Given the description of an element on the screen output the (x, y) to click on. 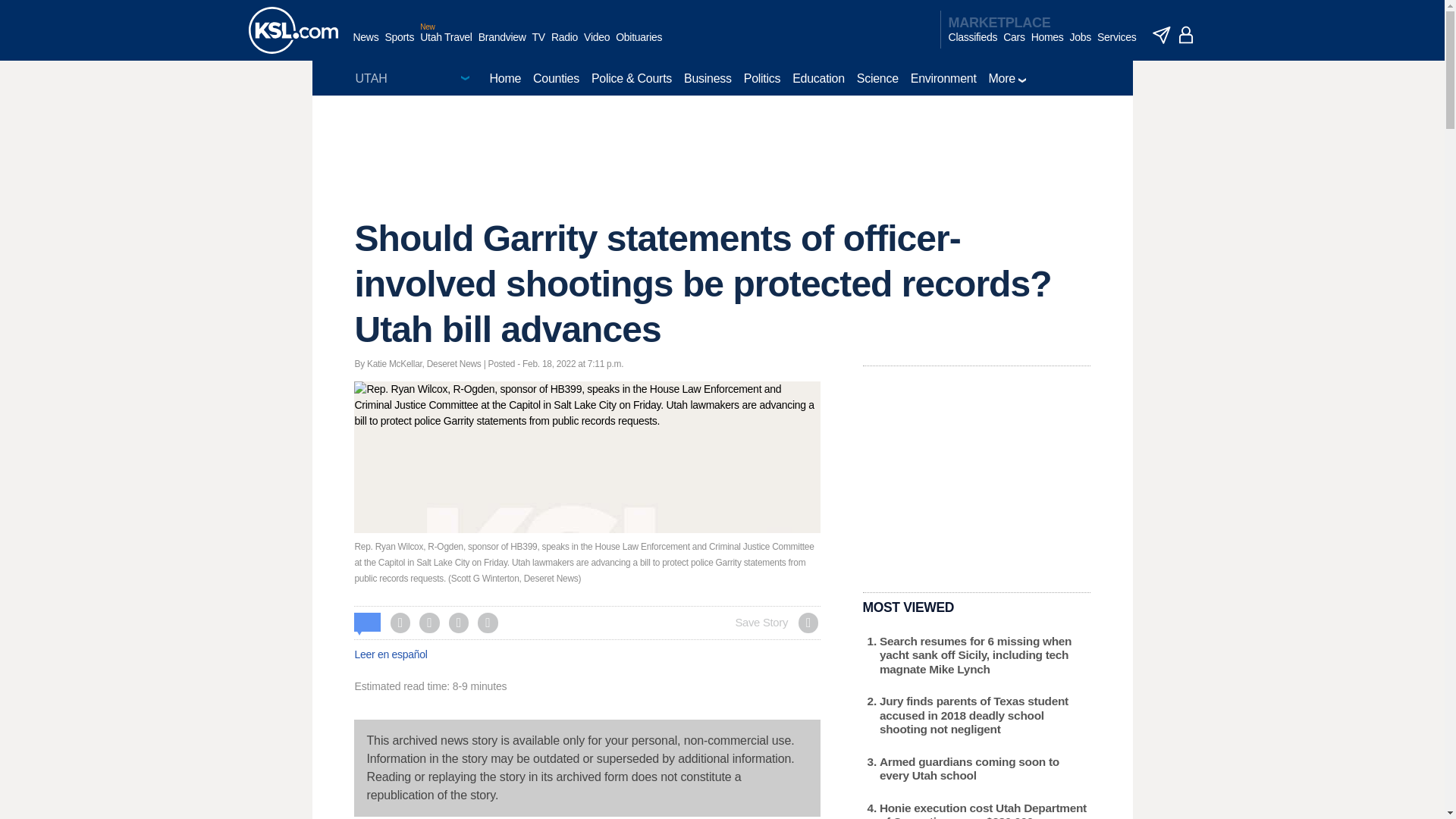
KSL homepage (292, 29)
account - logged out (1185, 34)
KSL homepage (292, 30)
Sports (398, 45)
Brandview (502, 45)
Utah Travel (445, 45)
